Given the description of an element on the screen output the (x, y) to click on. 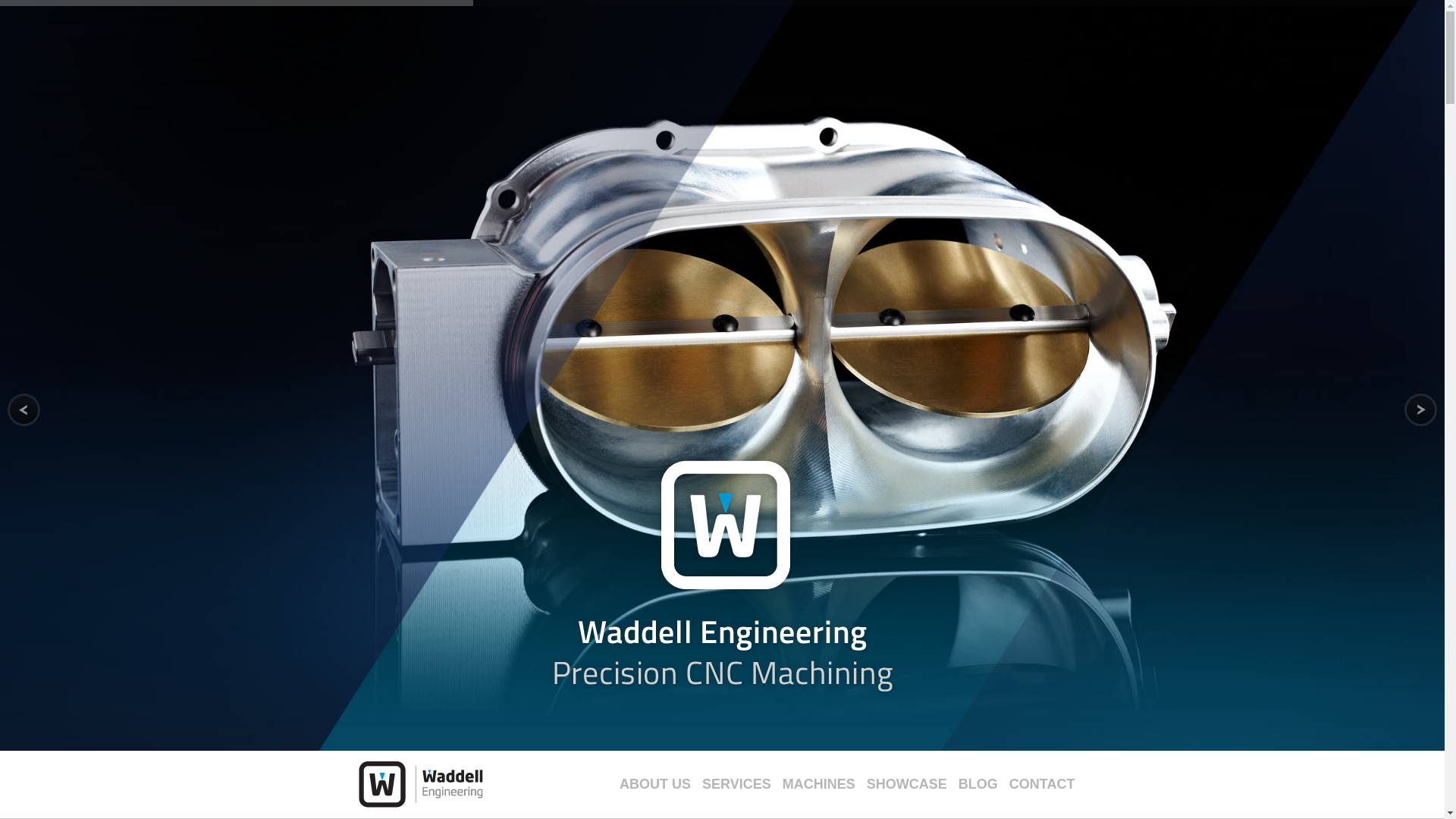
BLOG (983, 784)
SHOWCASE (912, 784)
SERVICES (742, 784)
ABOUT US (660, 784)
MACHINES (824, 784)
CONTACT (1047, 784)
